Given the description of an element on the screen output the (x, y) to click on. 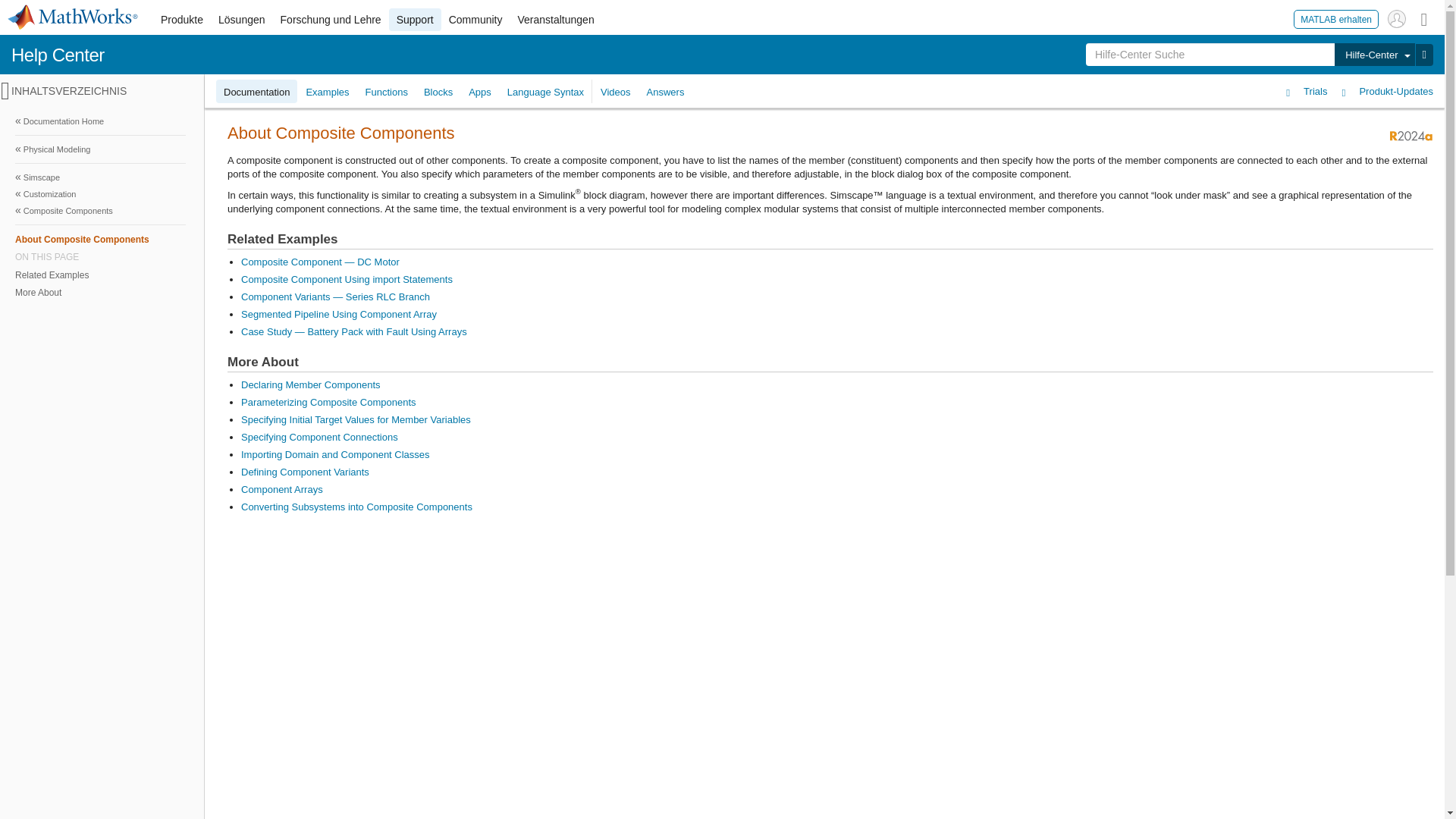
About Composite Components (100, 239)
Veranstaltungen (555, 19)
Community (476, 19)
Help Center (57, 54)
Forschung und Lehre (330, 19)
Melden Sie sich bei Ihrem MathWorks Konto an (1396, 18)
ON THIS PAGE (100, 256)
Produkte (181, 19)
MATLAB erhalten (1336, 18)
